Given the description of an element on the screen output the (x, y) to click on. 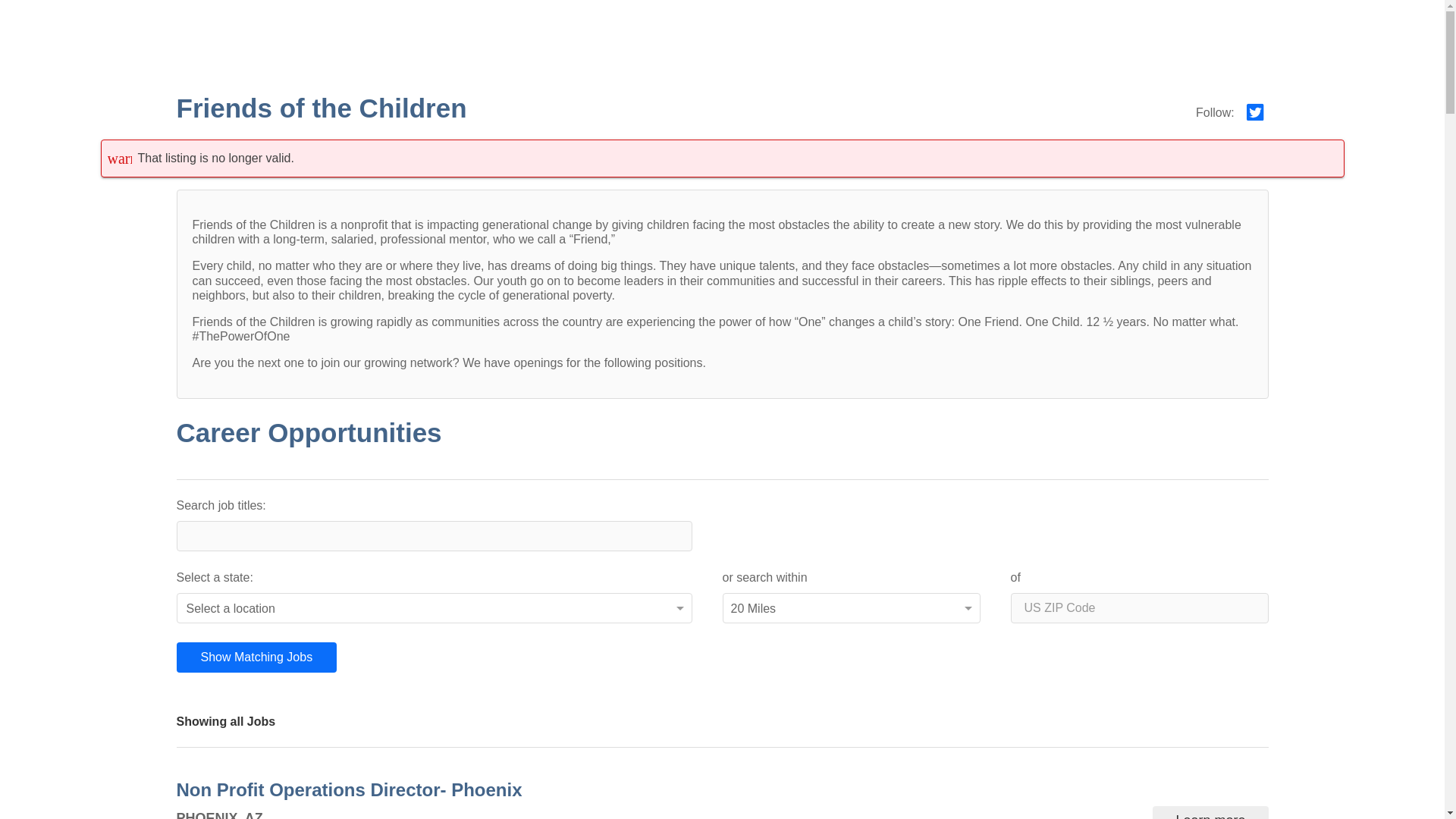
Show Matching Jobs (256, 656)
Non Profit Operations Director- Phoenix (355, 789)
Friends of the Children (320, 108)
Follow us on Twitter (1255, 116)
Learn more (1210, 812)
